Given the description of an element on the screen output the (x, y) to click on. 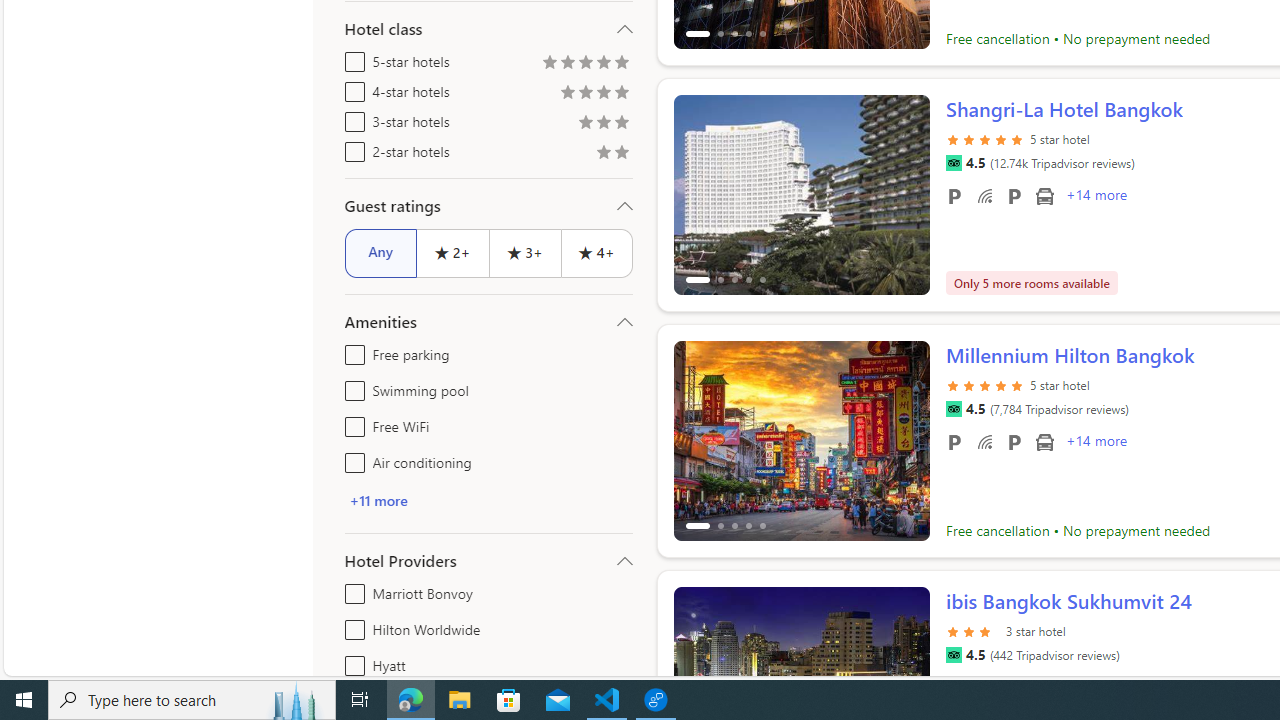
5-star hotels (351, 57)
Rating (621, 154)
ScrollLeft (697, 678)
Any (380, 252)
Guest ratings (488, 205)
Airport transportation (1044, 441)
Hotel class (488, 29)
Air conditioning (351, 458)
Swimming pool (351, 386)
Free WiFi (984, 441)
+14 More Amenities (1095, 443)
2-star hotels (351, 147)
Free parking (351, 350)
+11 more (488, 500)
Slide 1 (801, 440)
